Given the description of an element on the screen output the (x, y) to click on. 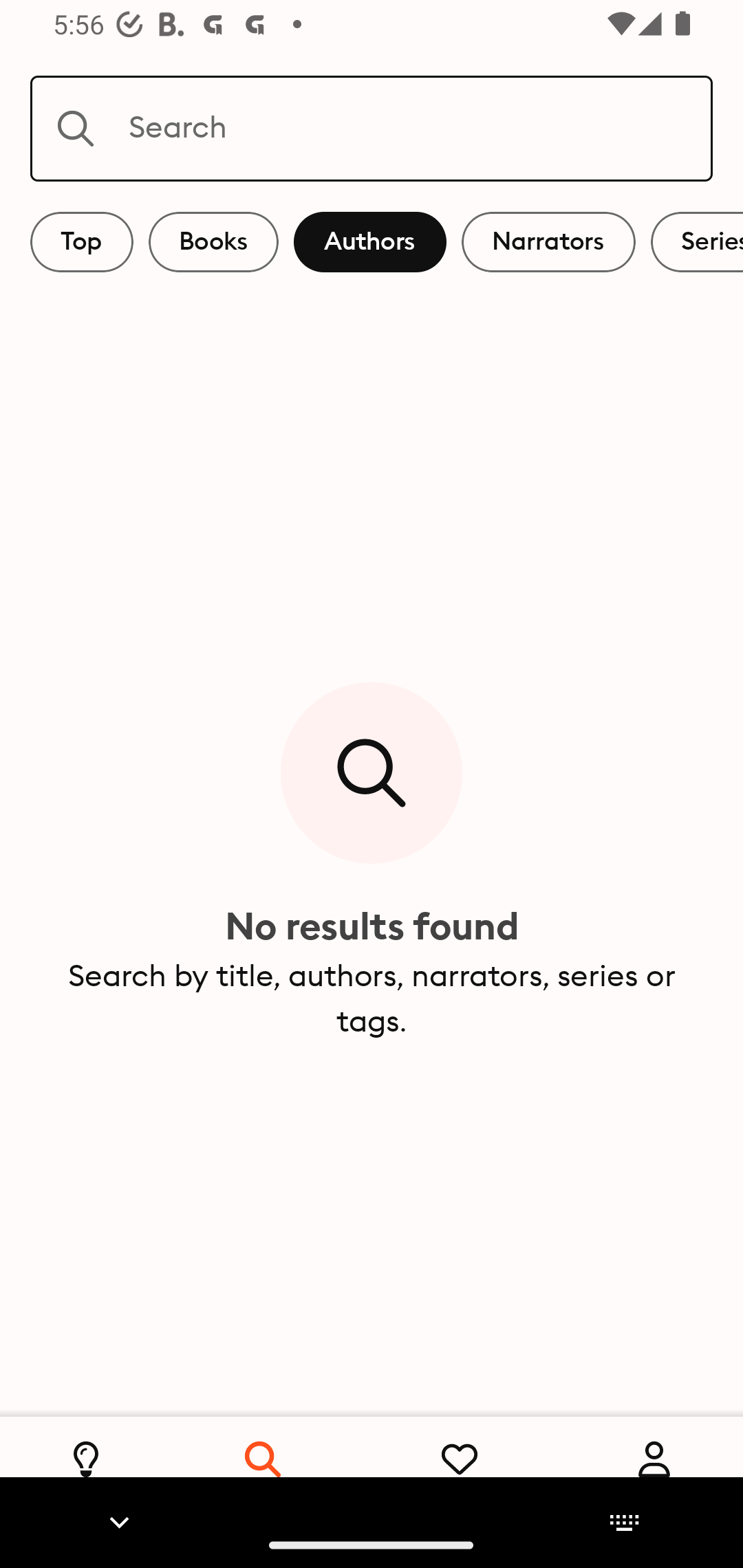
Search (371, 128)
Top (81, 241)
Books (213, 241)
Authors (369, 241)
Narrators (548, 241)
Series (696, 241)
